Given the description of an element on the screen output the (x, y) to click on. 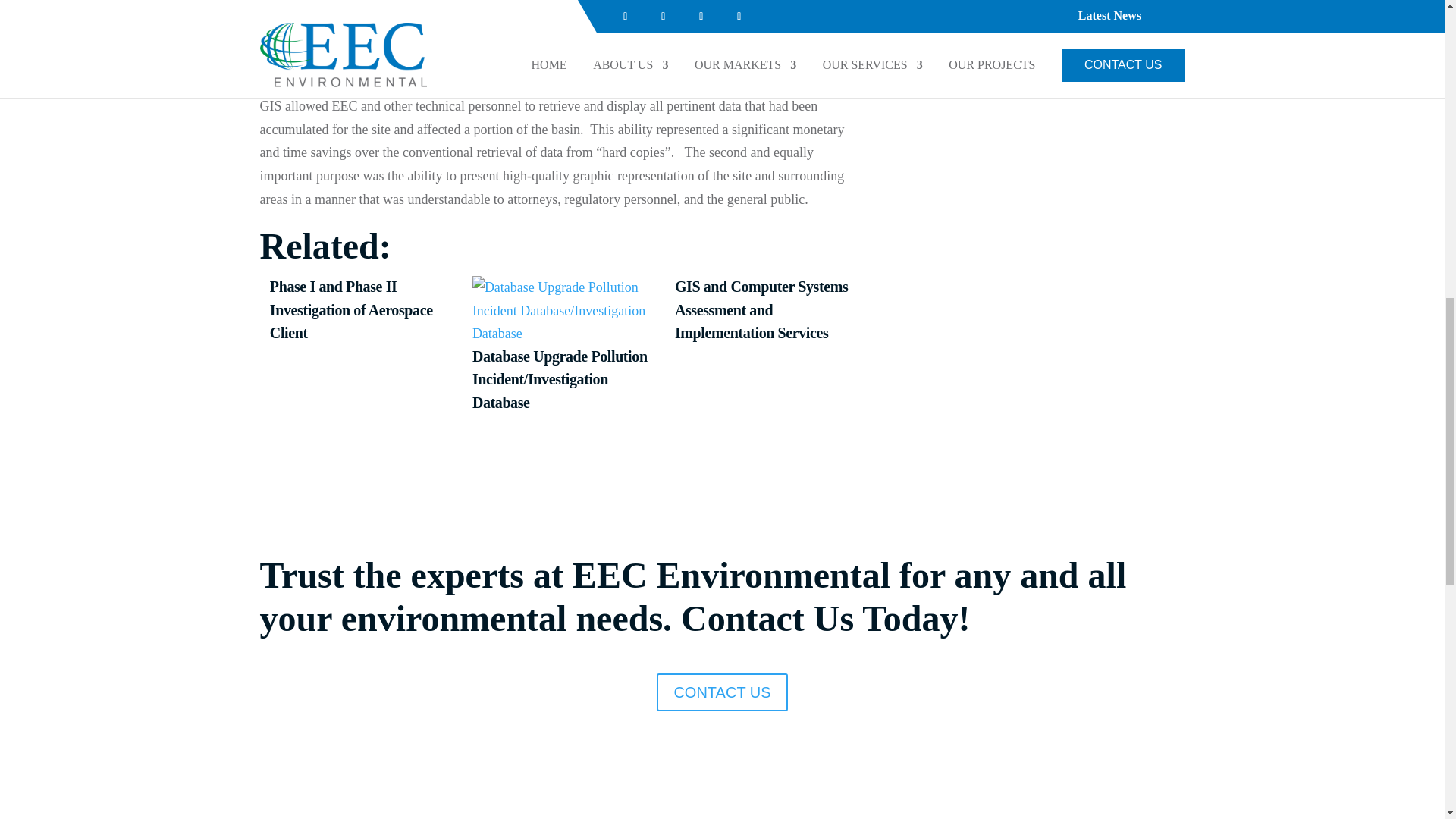
Phase I and Phase II Investigation of Aerospace Client (360, 345)
